Given the description of an element on the screen output the (x, y) to click on. 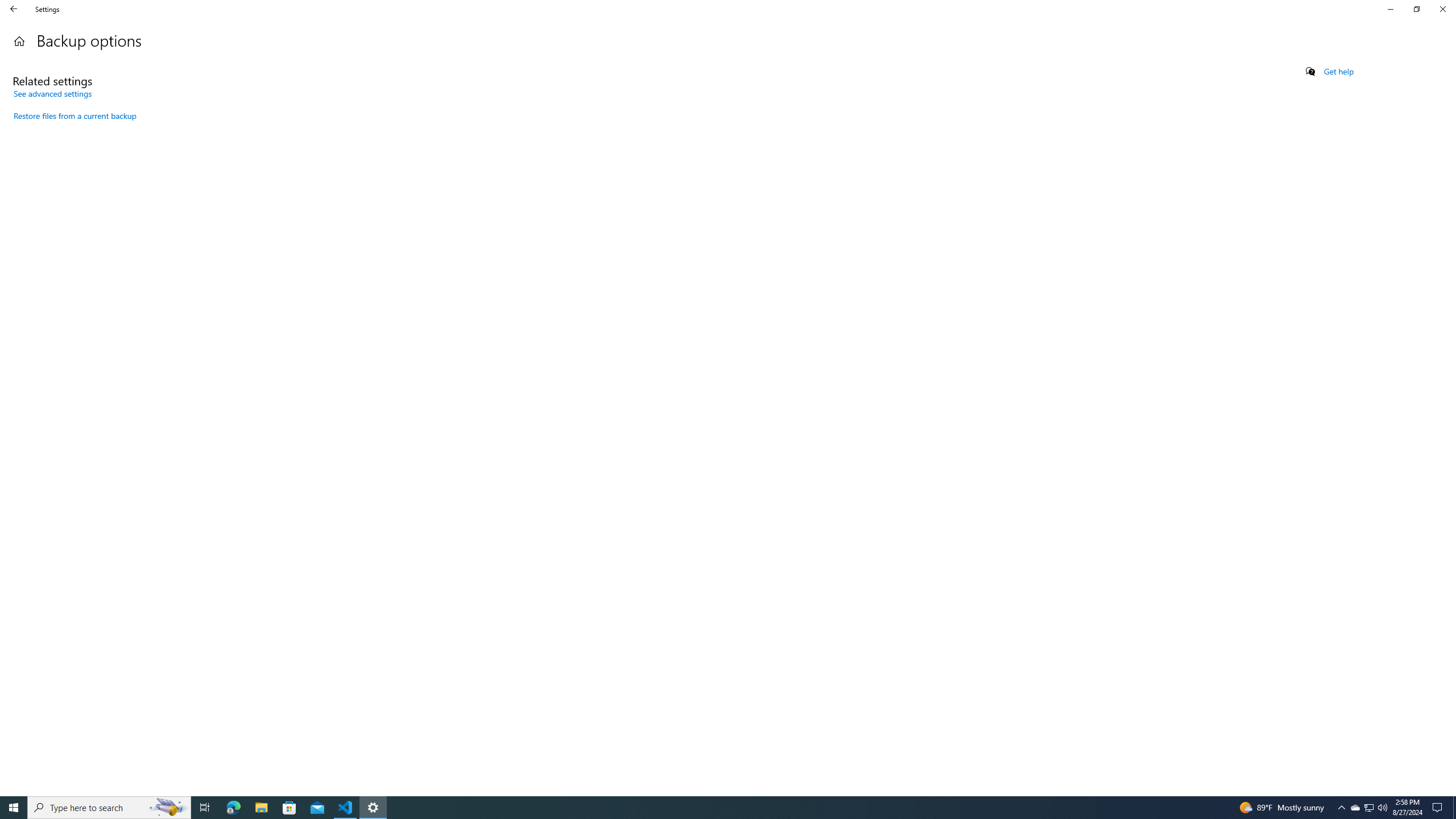
Minimize Settings (1390, 9)
Back (13, 9)
Q2790: 100% (1382, 807)
Microsoft Store (289, 807)
Task View (204, 807)
Search highlights icon opens search home window (1355, 807)
File Explorer (167, 807)
User Promoted Notification Area (261, 807)
Type here to search (1368, 807)
Close Settings (108, 807)
